Given the description of an element on the screen output the (x, y) to click on. 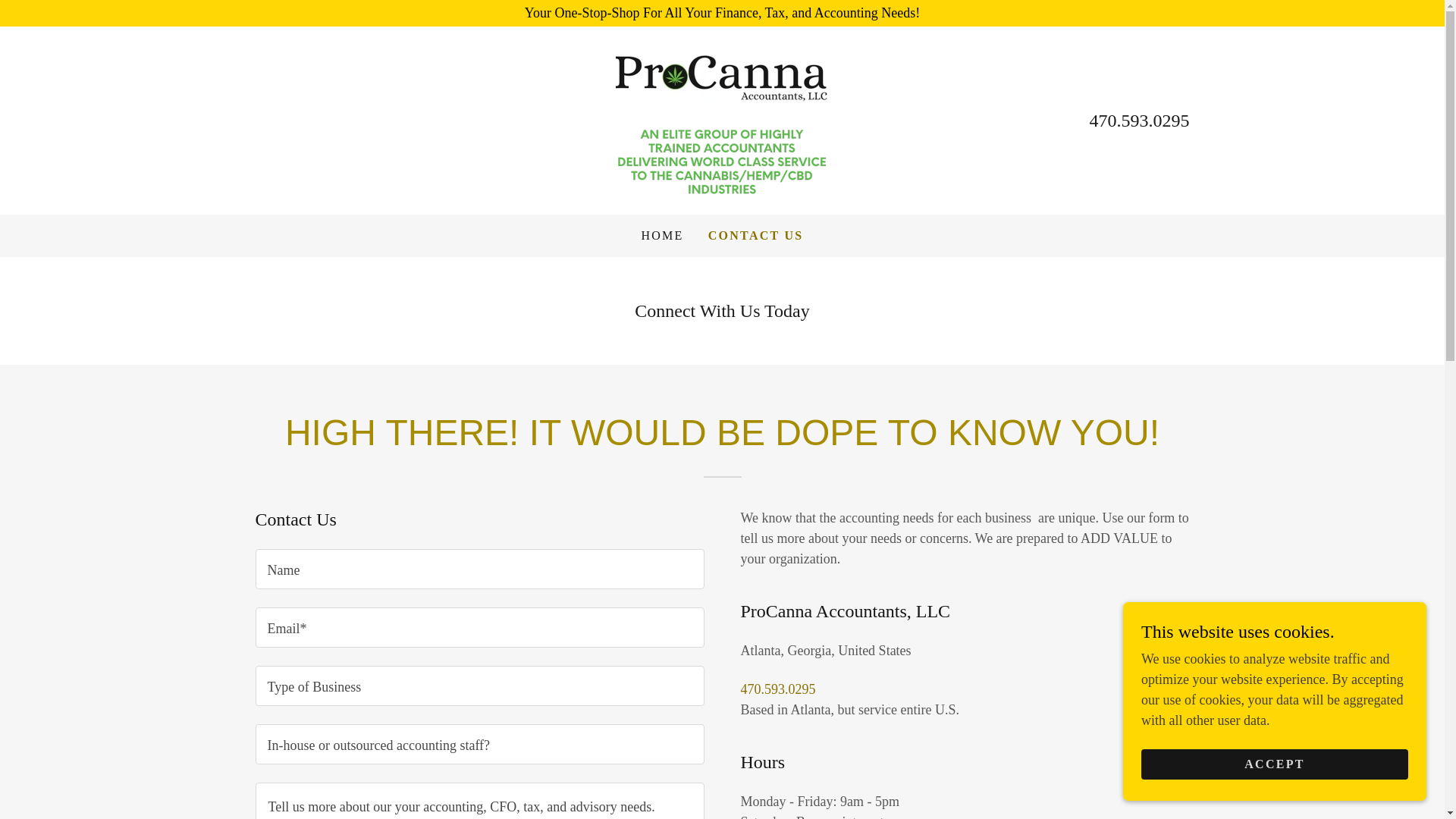
HOME (661, 235)
ACCEPT (1274, 764)
470.593.0295 (1139, 120)
CONTACT US (755, 235)
470.593.0295 (777, 688)
